Given the description of an element on the screen output the (x, y) to click on. 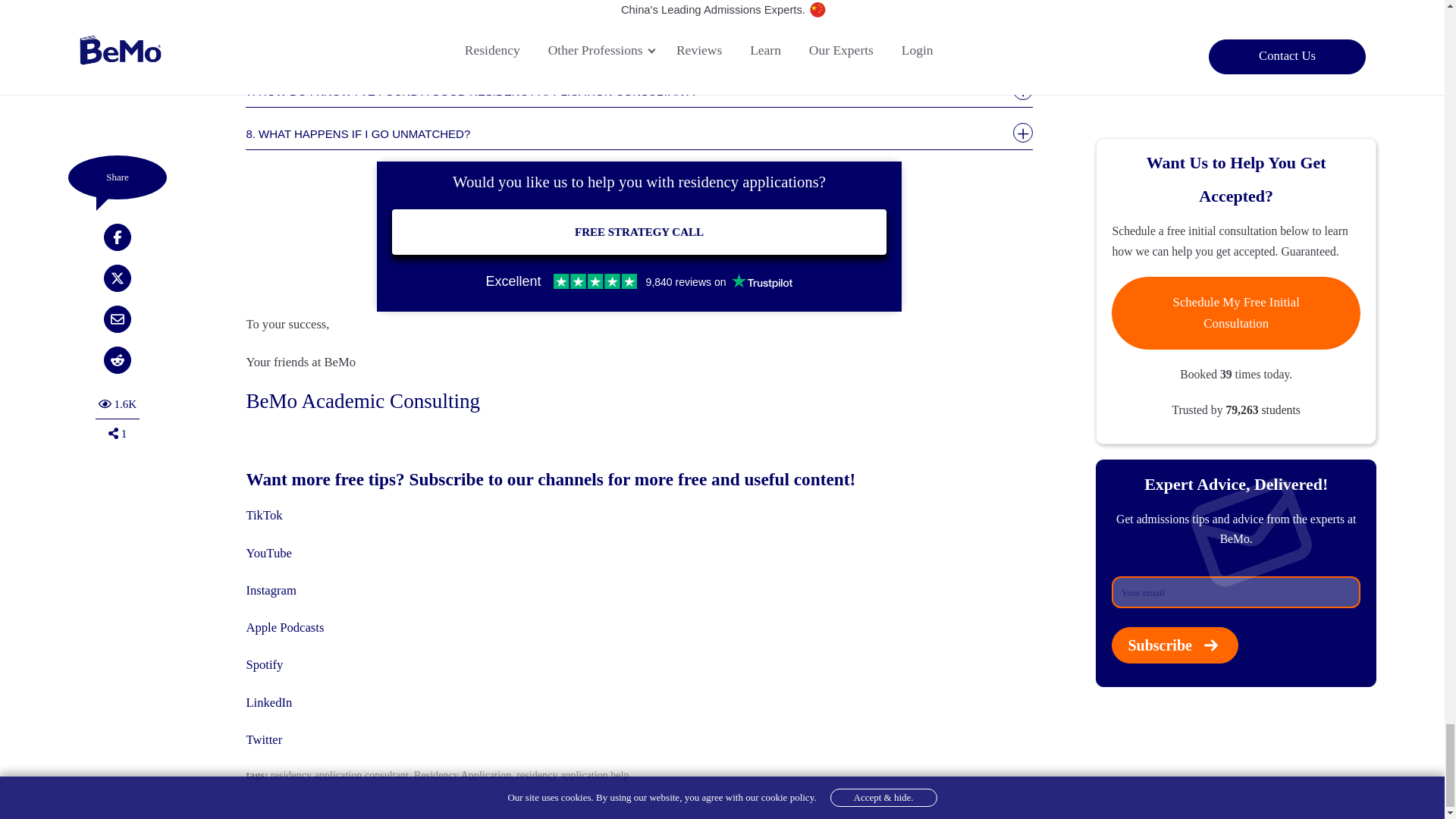
Customer reviews powered by Trustpilot (638, 281)
